Given the description of an element on the screen output the (x, y) to click on. 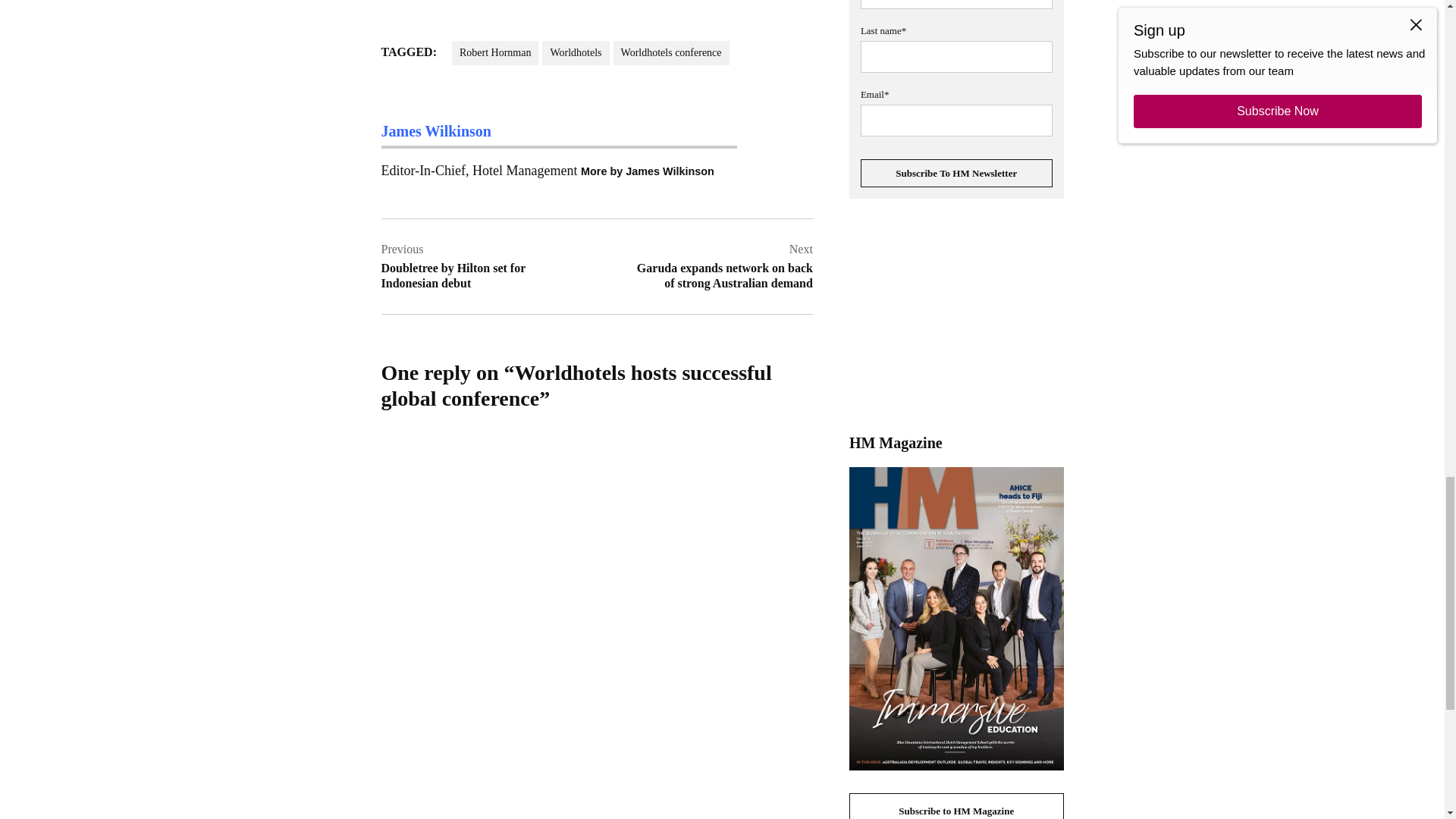
Subscribe to HM Newsletter (956, 173)
3rd party ad content (956, 316)
